Given the description of an element on the screen output the (x, y) to click on. 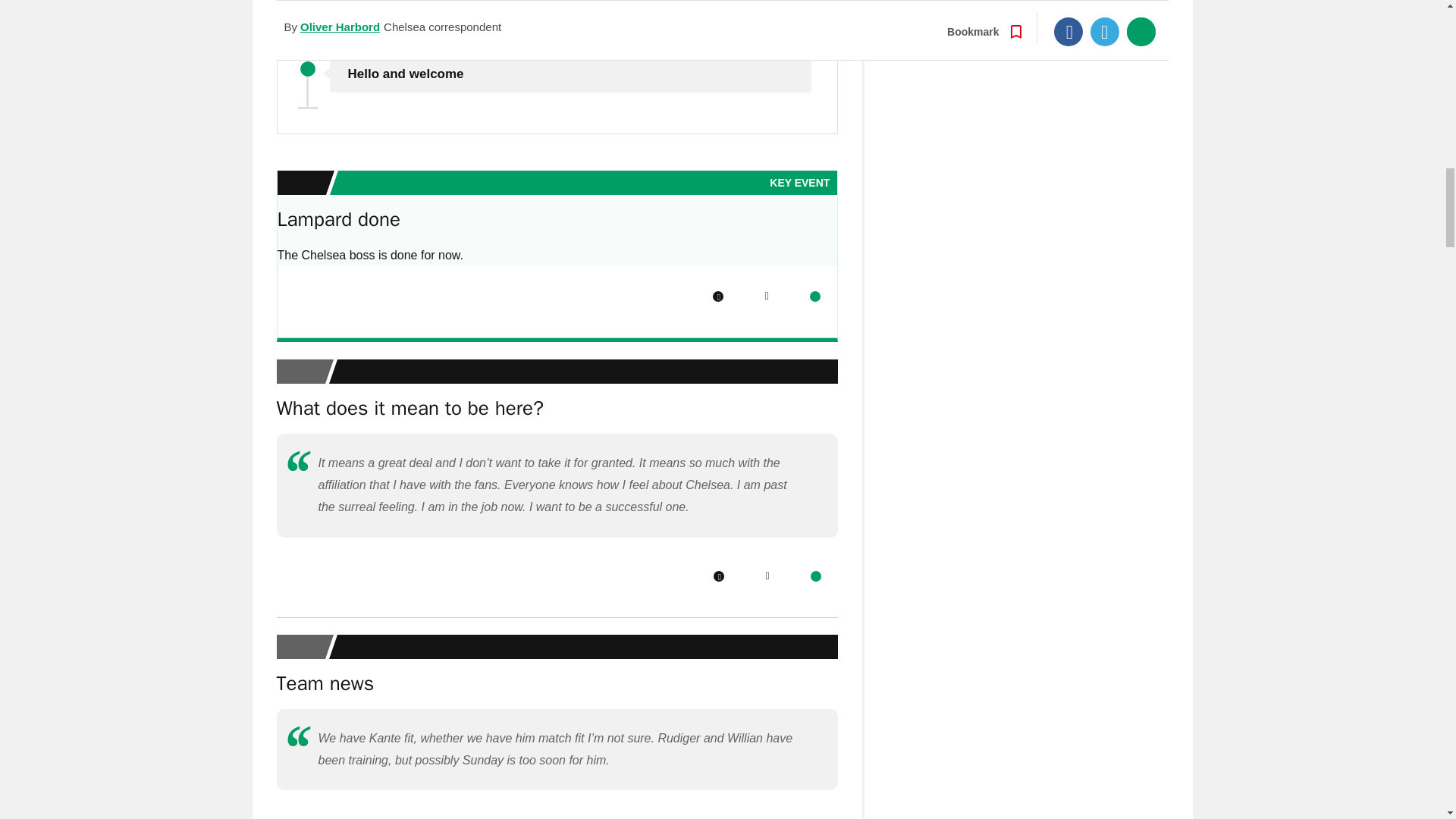
Twitter (766, 296)
Facebook (718, 575)
Twitter (767, 575)
Facebook (718, 296)
